Given the description of an element on the screen output the (x, y) to click on. 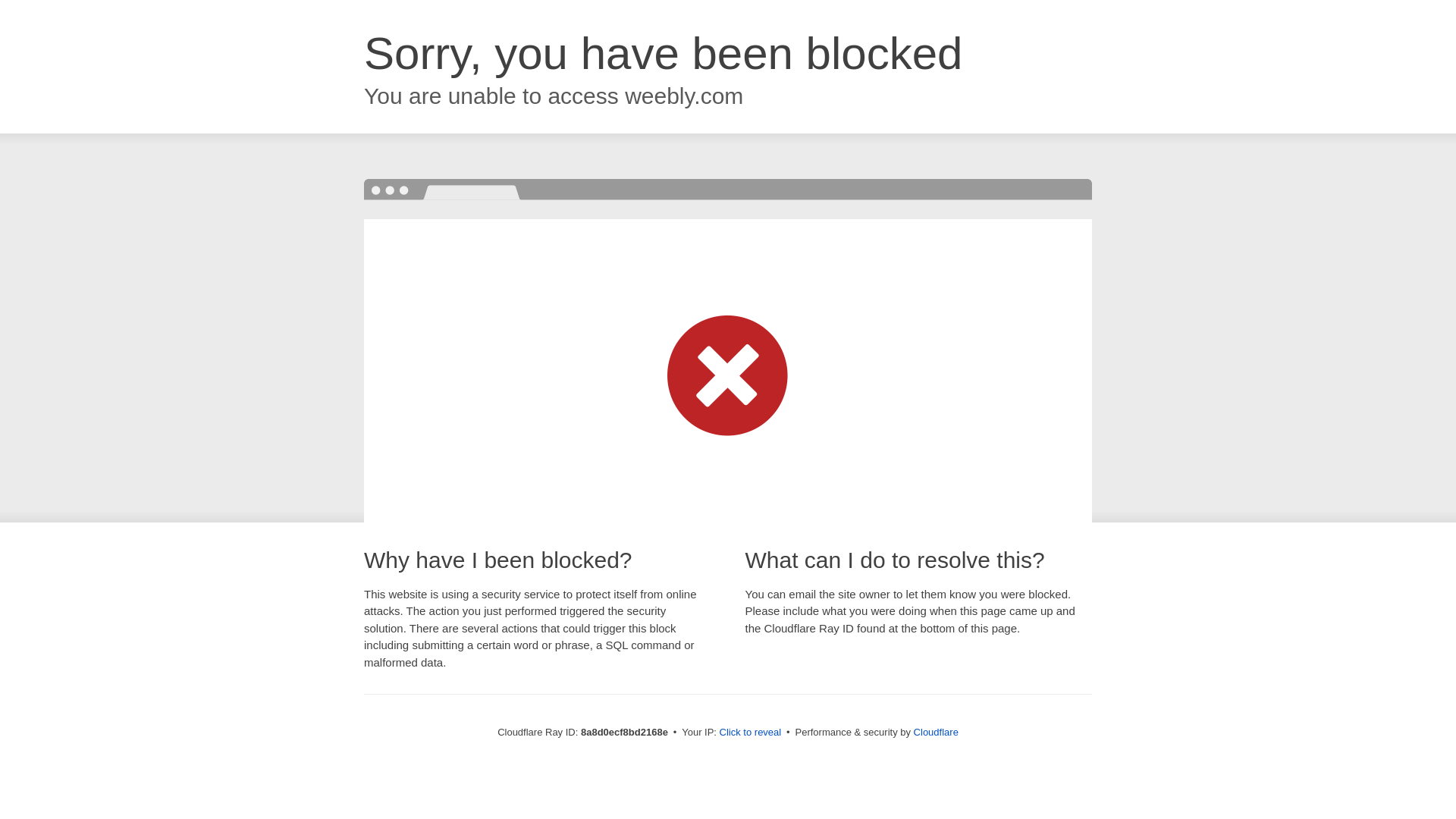
Cloudflare (936, 731)
Click to reveal (750, 732)
